Given the description of an element on the screen output the (x, y) to click on. 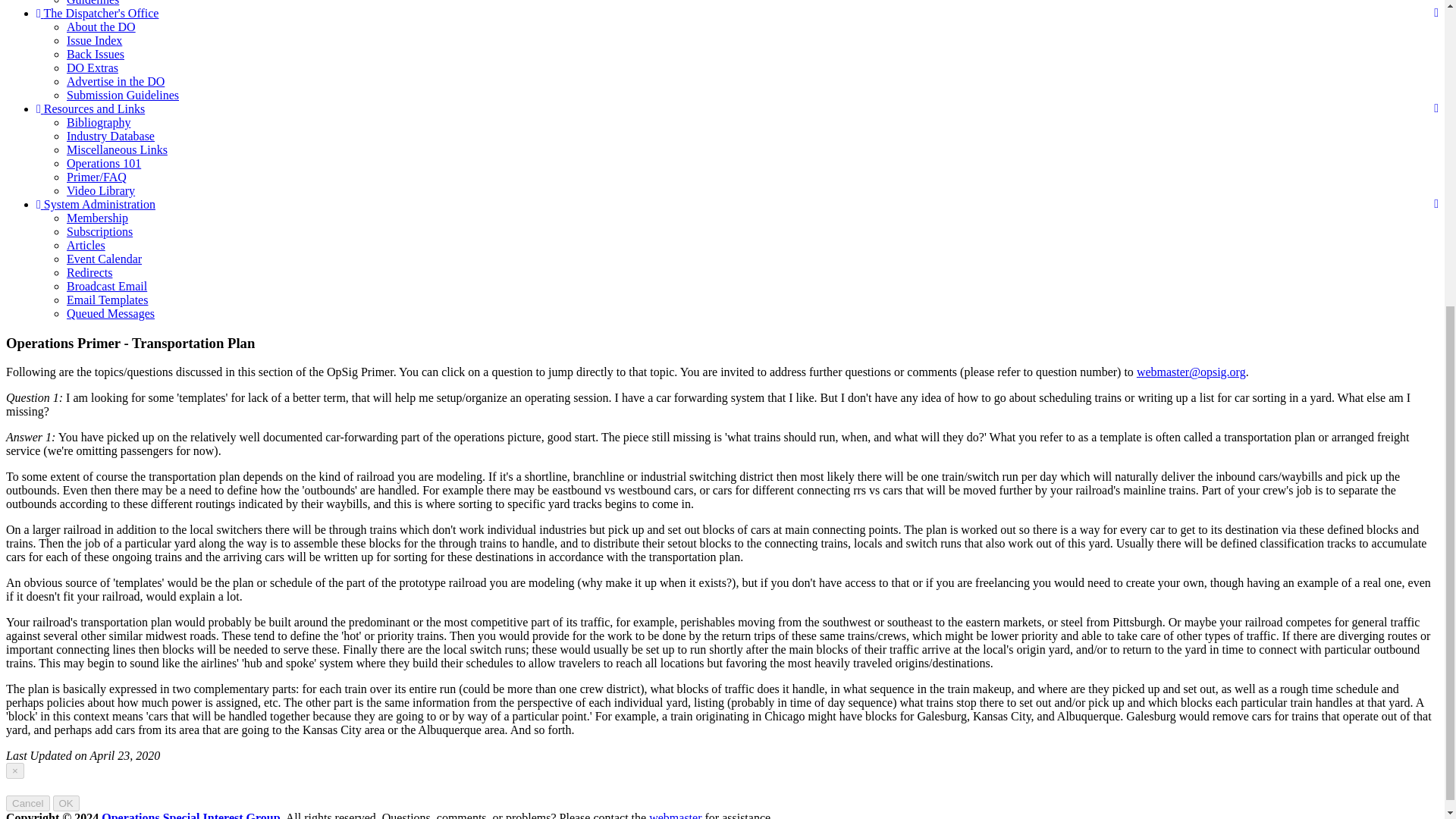
Back Issues (94, 53)
Advertise in the DO (115, 81)
The Dispatcher's Office (97, 12)
DO Extras (91, 67)
Guidelines (92, 2)
Issue Index (94, 40)
Resources and Links (90, 108)
Submission Guidelines (122, 94)
About the DO (100, 26)
